Given the description of an element on the screen output the (x, y) to click on. 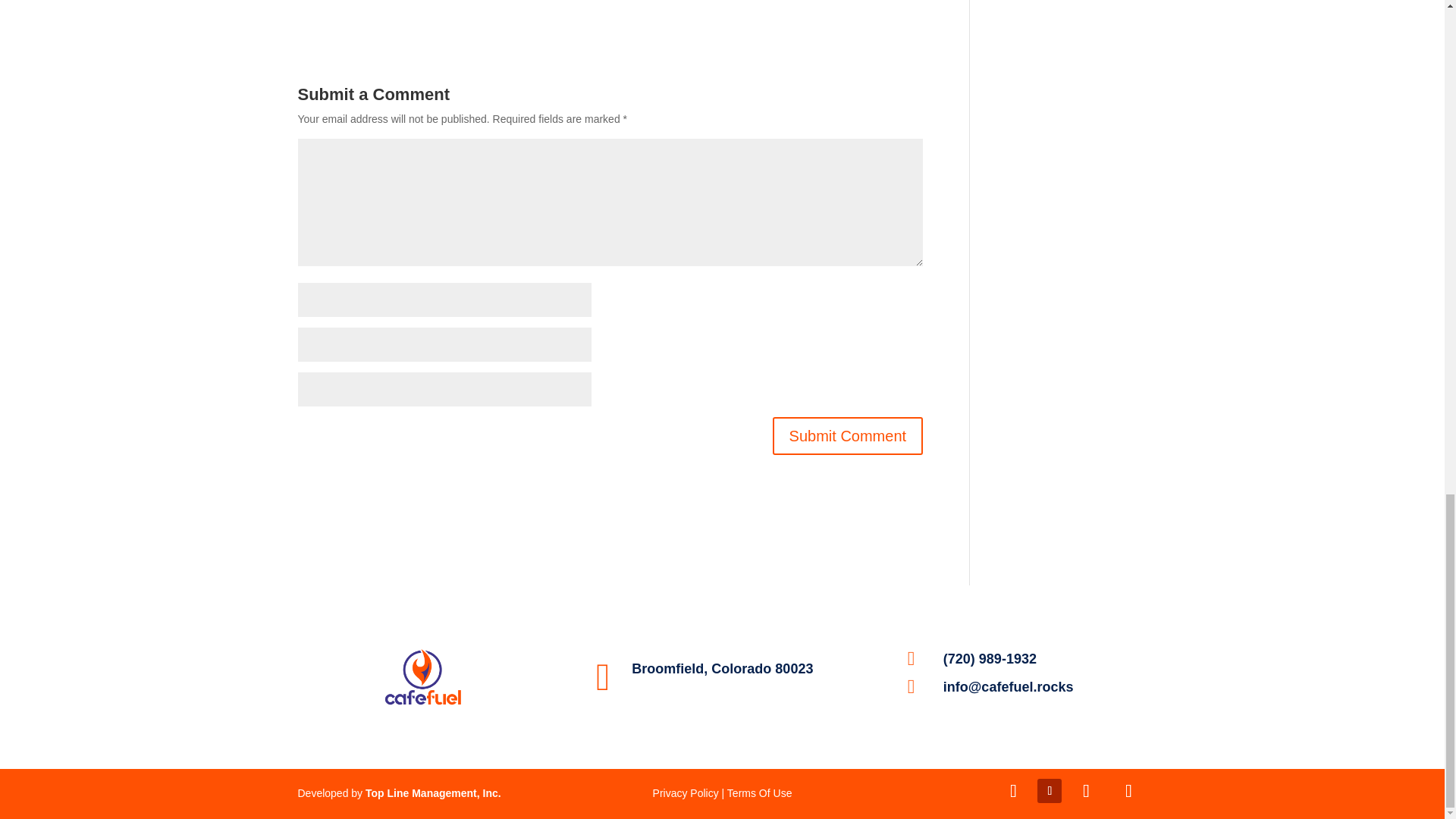
Follow on RSS (1128, 791)
Submit Comment (848, 435)
Privacy Policy (685, 793)
Follow on Youtube (1048, 790)
Follow on X (1085, 791)
Follow on Facebook (1012, 791)
Terms Of Use (759, 793)
